Given the description of an element on the screen output the (x, y) to click on. 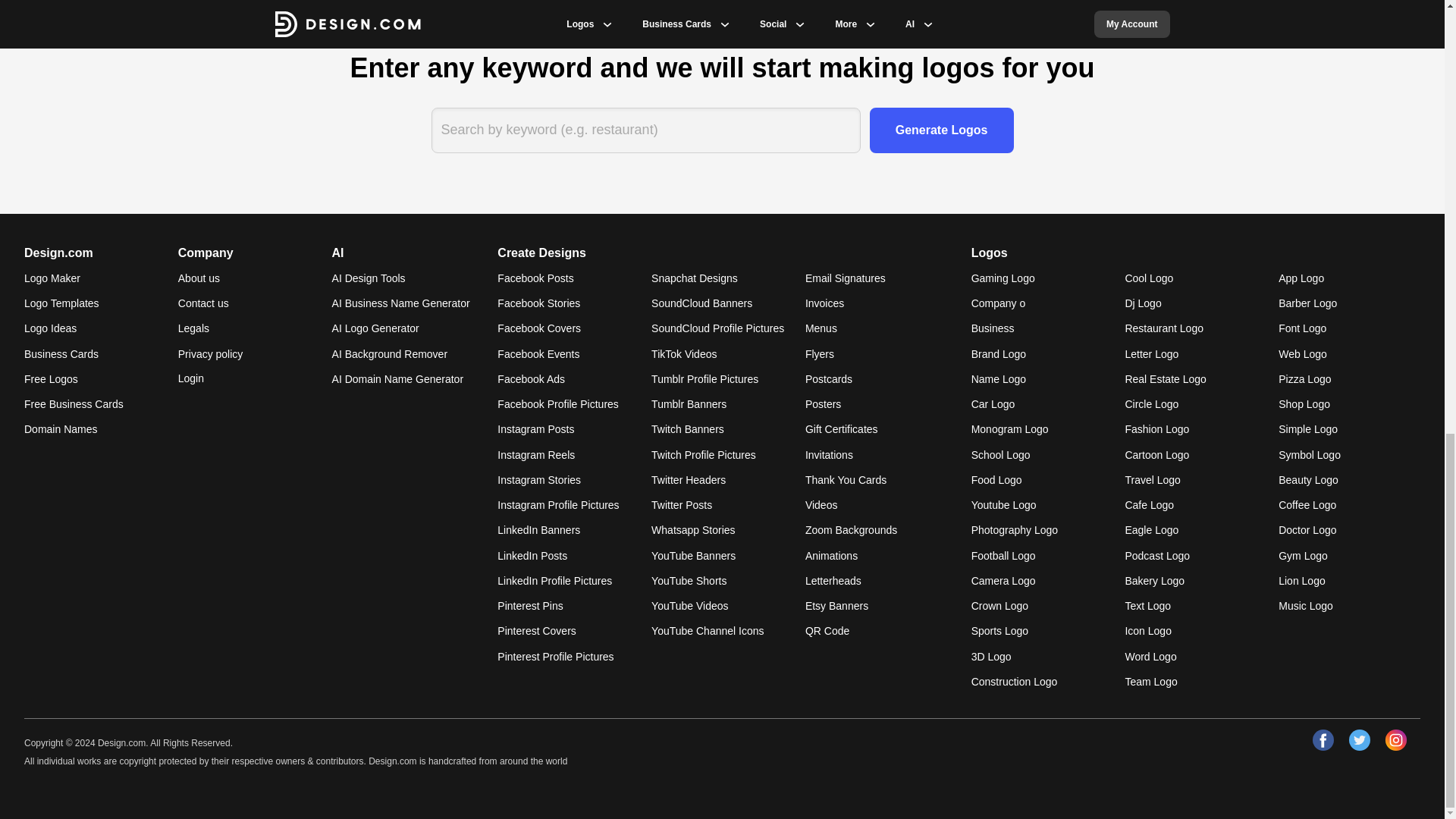
twitter (1359, 740)
facebook (1323, 740)
instagram (1395, 740)
